Given the description of an element on the screen output the (x, y) to click on. 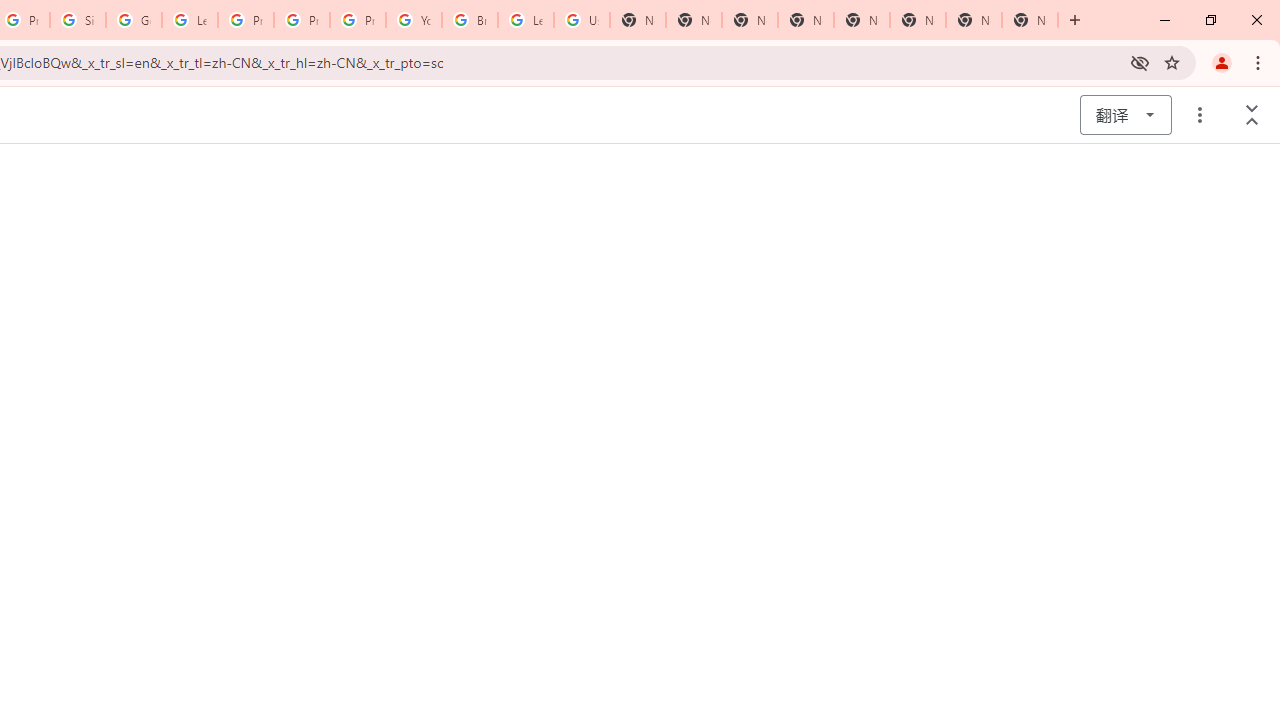
YouTube (413, 20)
Privacy Help Center - Policies Help (301, 20)
Sign in - Google Accounts (77, 20)
Privacy Help Center - Policies Help (245, 20)
